Given the description of an element on the screen output the (x, y) to click on. 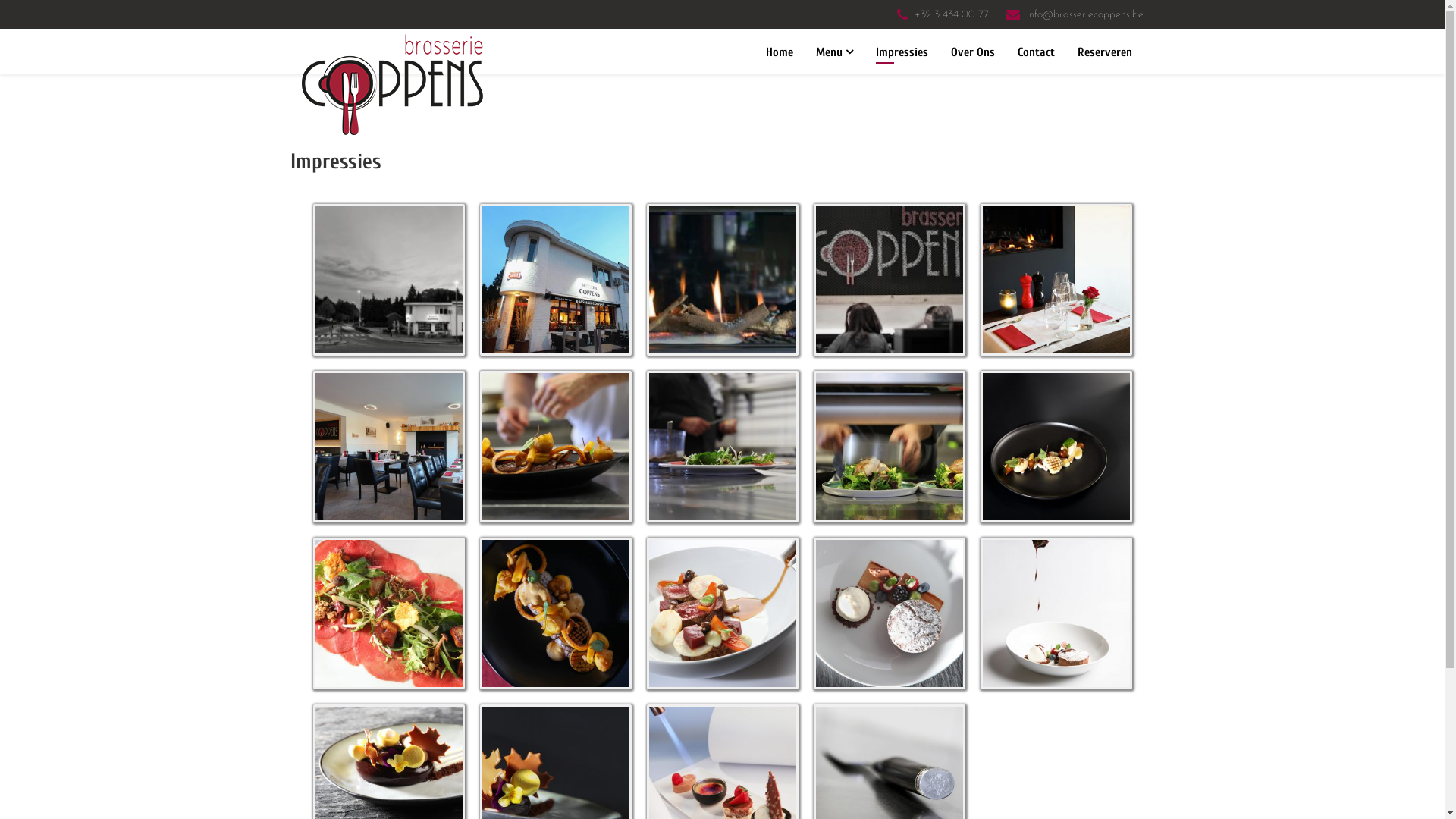
Home Element type: text (778, 52)
Menu Element type: text (833, 51)
Over Ons Element type: text (971, 52)
Impressies Element type: text (901, 52)
+32 3 434 00 77 Element type: text (951, 14)
Reserveren Element type: text (1104, 52)
Contact Element type: text (1035, 52)
